Given the description of an element on the screen output the (x, y) to click on. 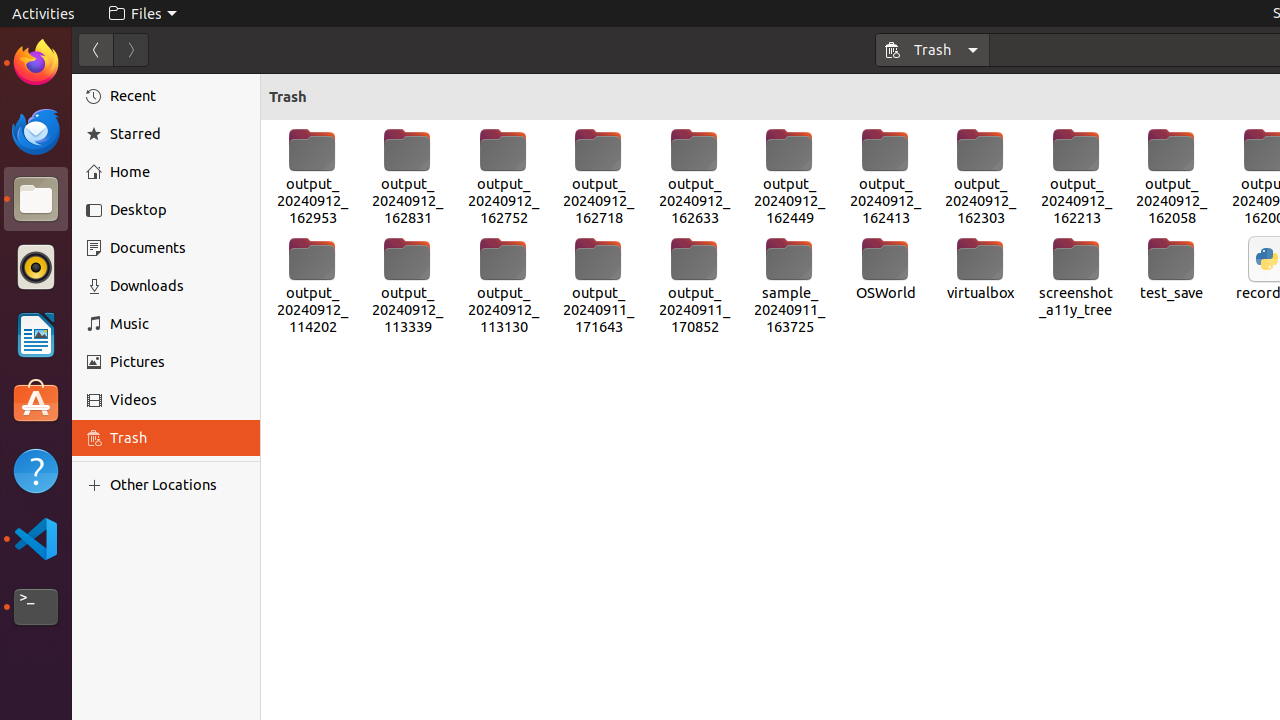
output_20240912_162633 Element type: canvas (694, 177)
output_20240912_114202 Element type: canvas (312, 286)
virtualbox Element type: canvas (981, 269)
output_20240912_162058 Element type: canvas (1171, 177)
